Given the description of an element on the screen output the (x, y) to click on. 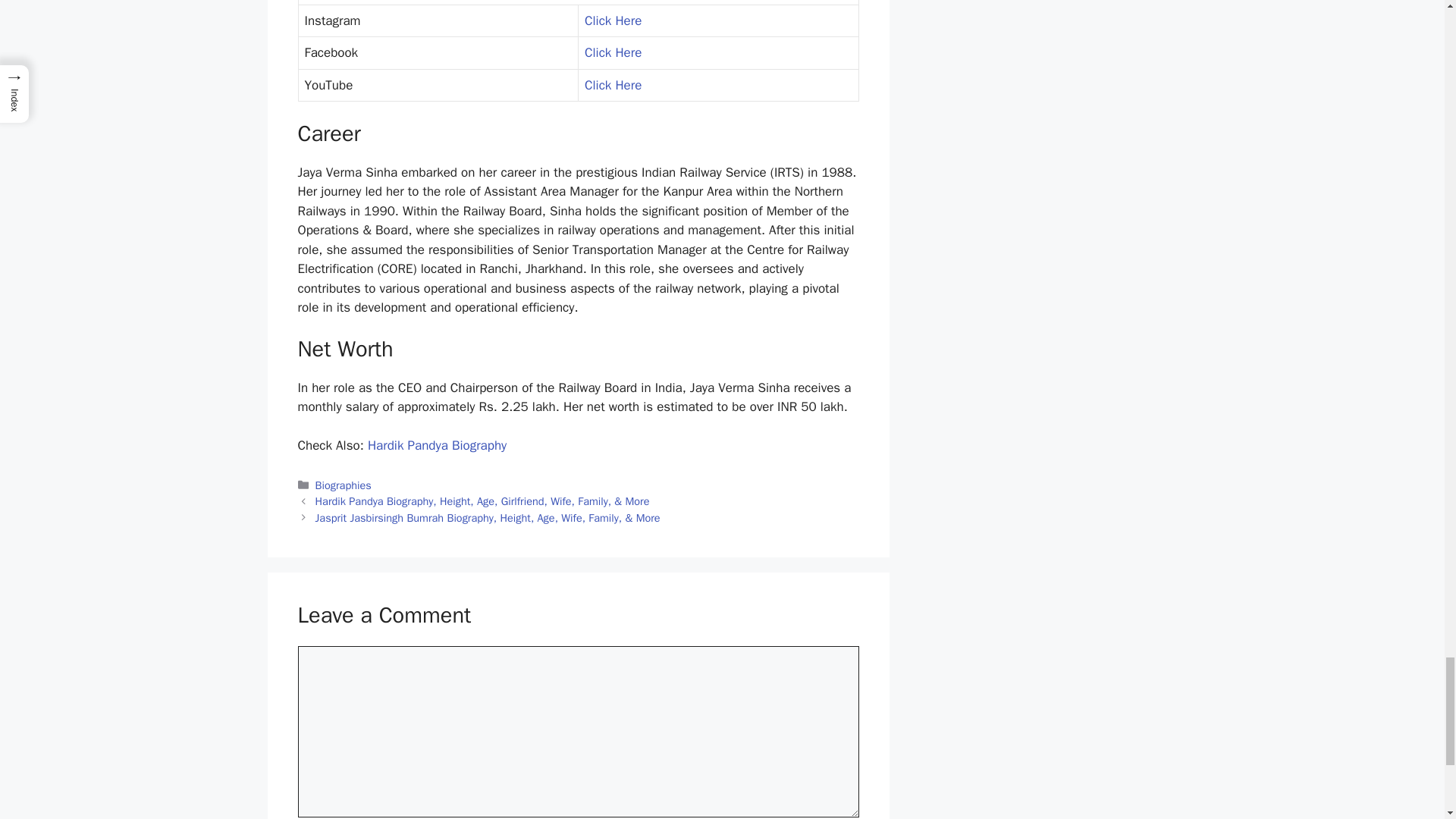
Click Here (613, 20)
Biographies (343, 485)
Click Here (613, 84)
Hardik Pandya Biography (437, 445)
Click Here (613, 52)
